Given the description of an element on the screen output the (x, y) to click on. 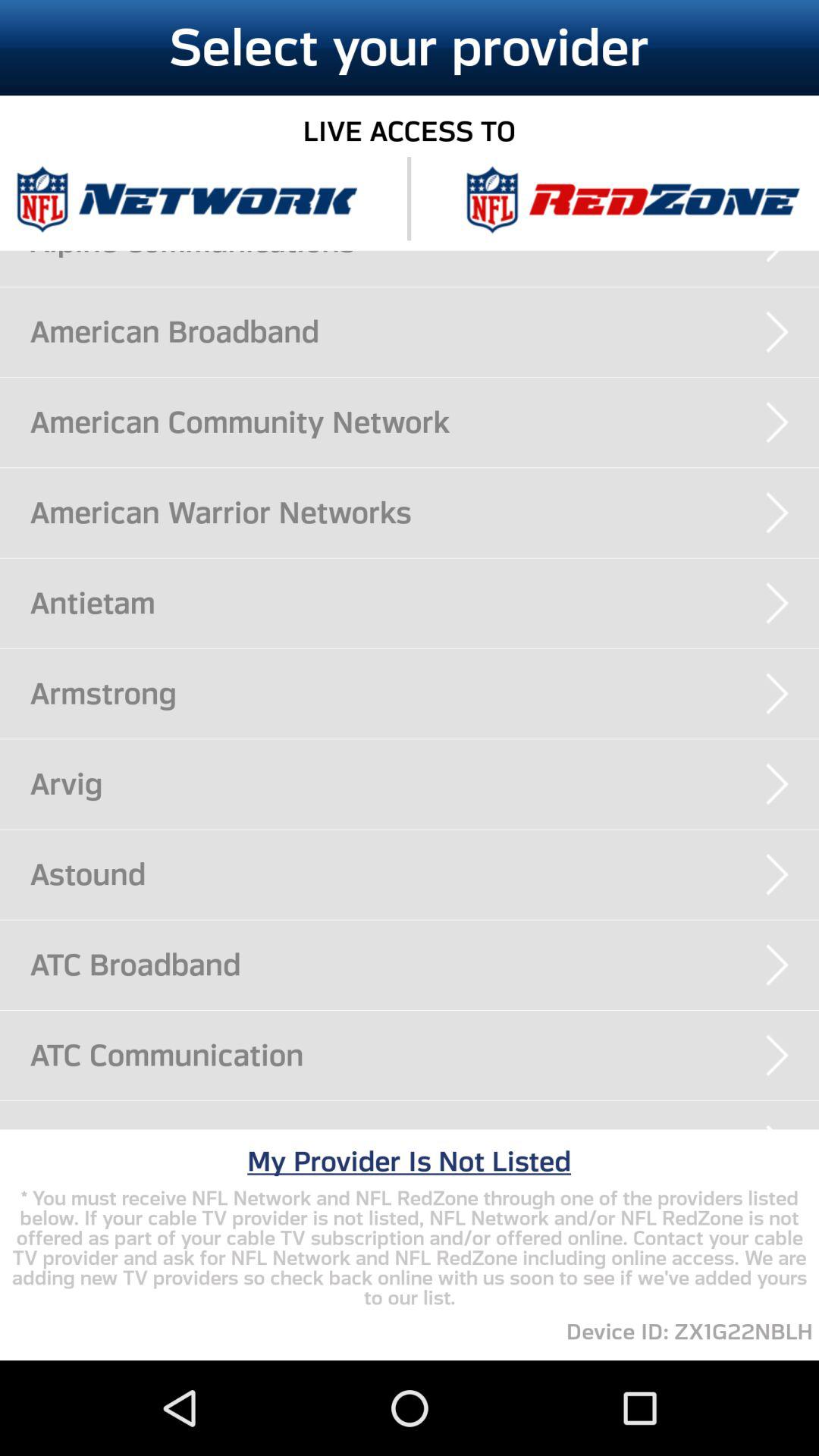
swipe to atlantic broadband item (424, 1128)
